Given the description of an element on the screen output the (x, y) to click on. 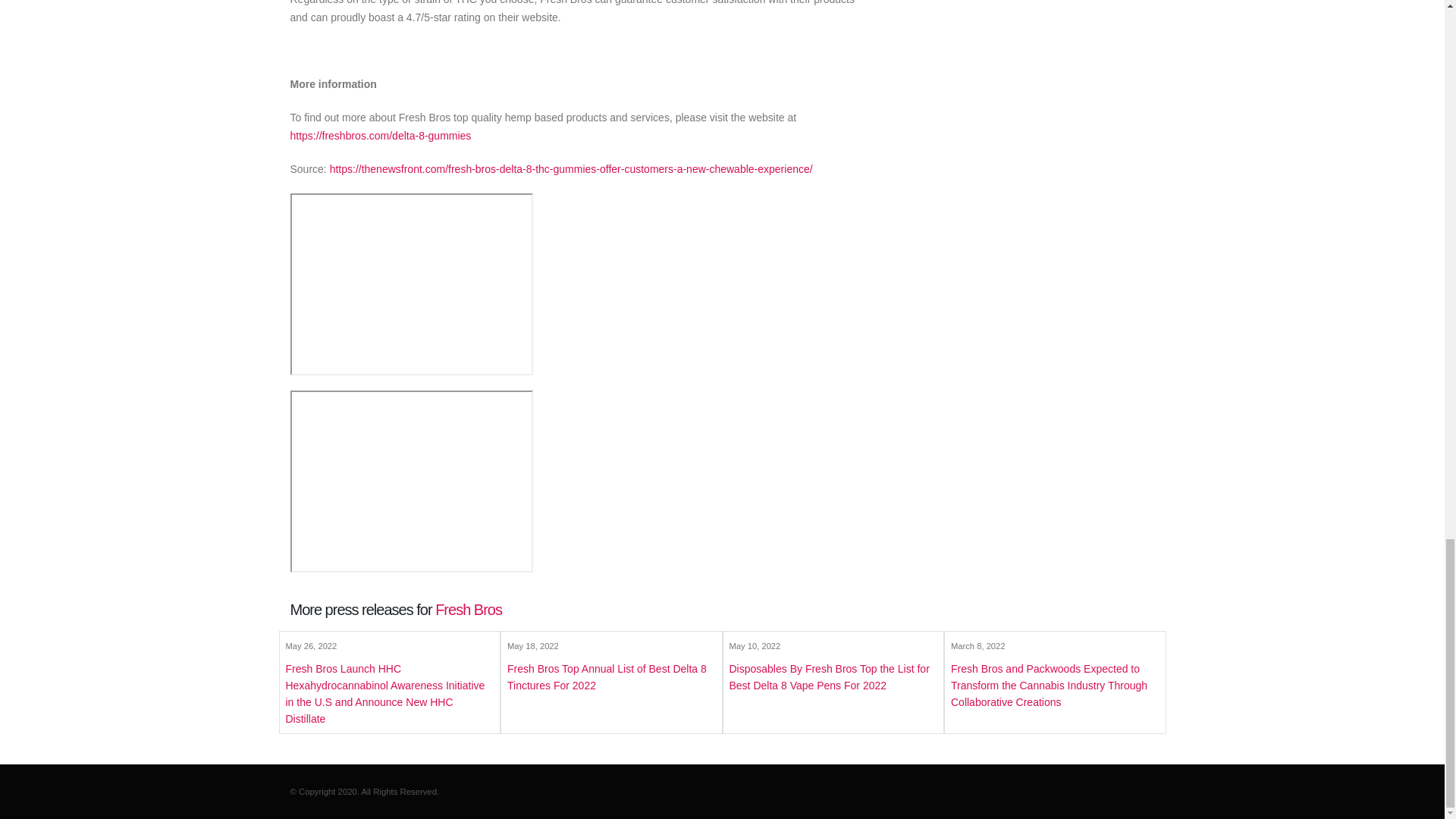
Fresh Bros (468, 609)
